Given the description of an element on the screen output the (x, y) to click on. 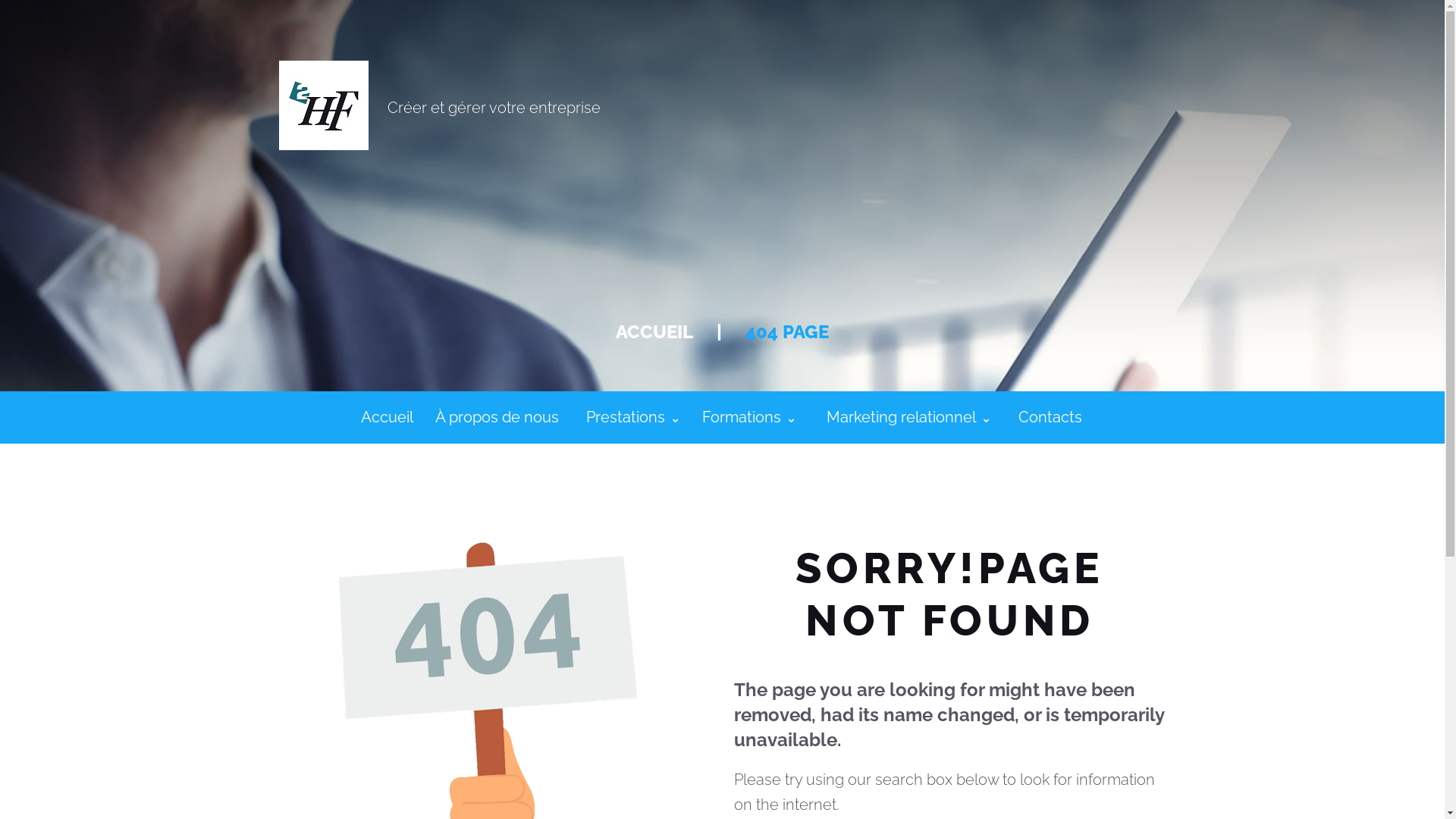
Prestations Element type: text (632, 417)
ACCUEIL Element type: text (654, 331)
Formations Element type: text (748, 417)
Contacts Element type: text (1049, 417)
Accueil Element type: text (387, 417)
Marketing relationnel Element type: text (908, 417)
